Given the description of an element on the screen output the (x, y) to click on. 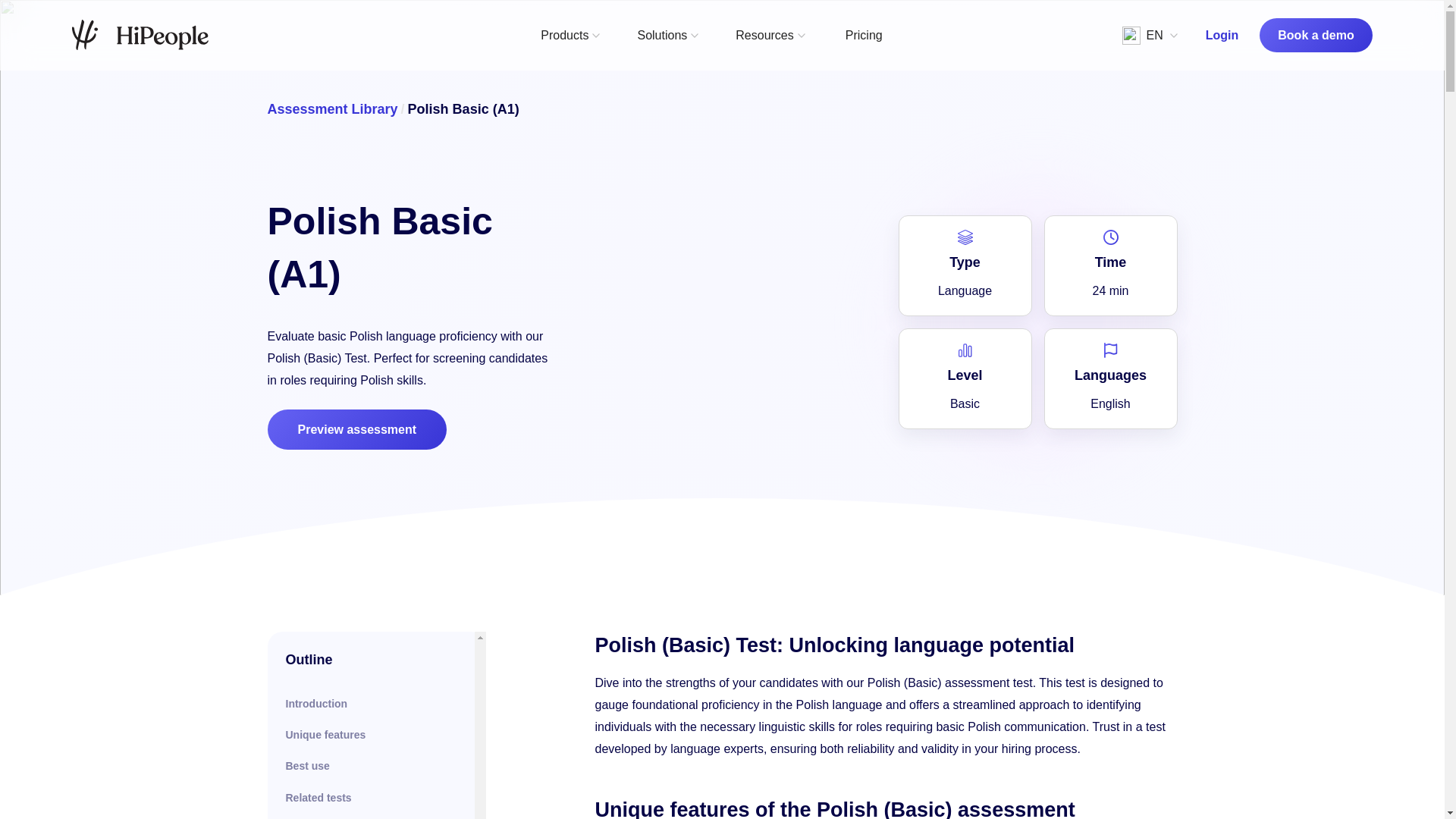
Pricing (863, 35)
